Given the description of an element on the screen output the (x, y) to click on. 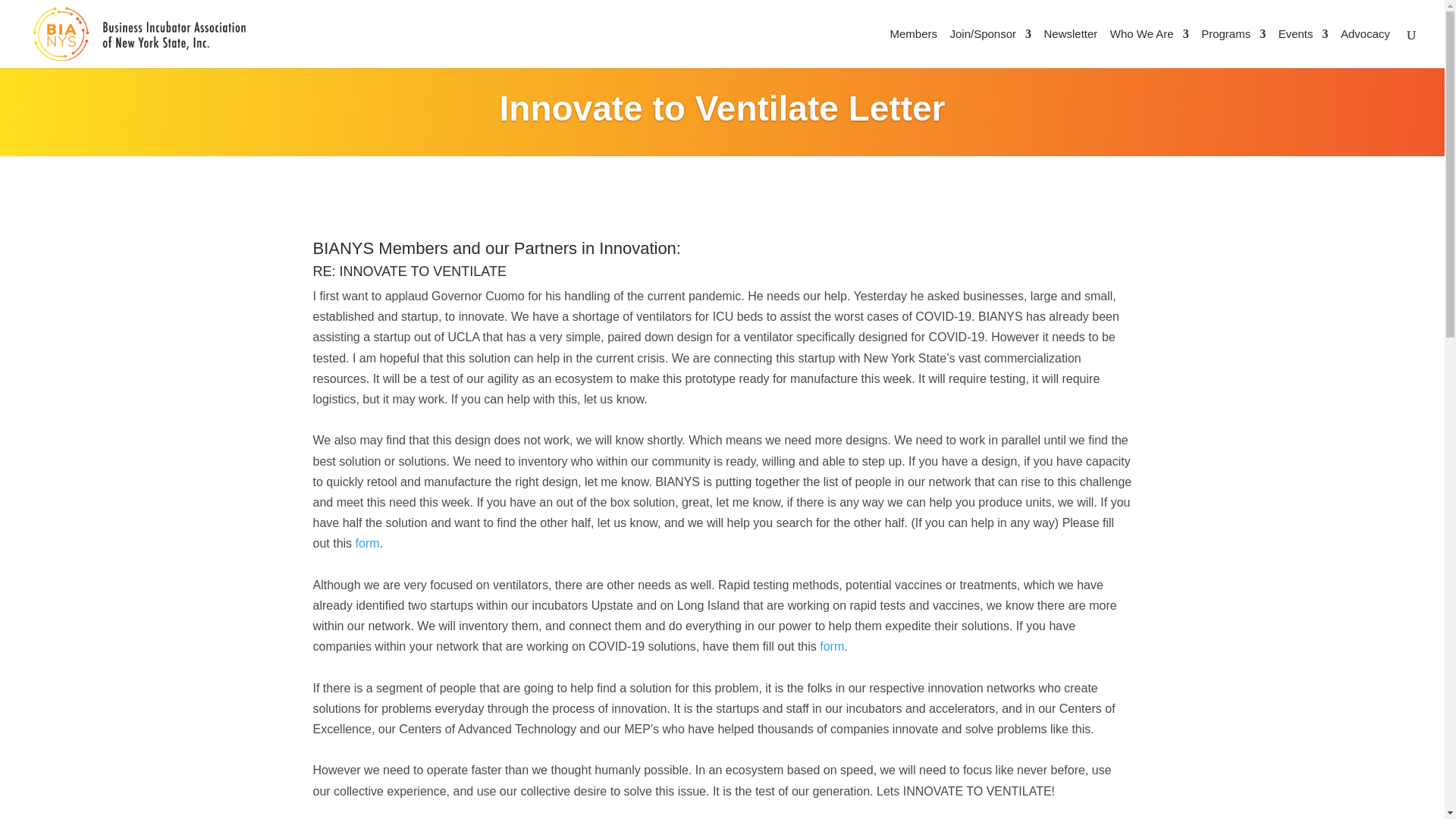
Newsletter (1070, 47)
Members (913, 47)
Events (1302, 47)
Programs (1233, 47)
form (367, 543)
Advocacy (1365, 47)
Who We Are (1149, 47)
